Given the description of an element on the screen output the (x, y) to click on. 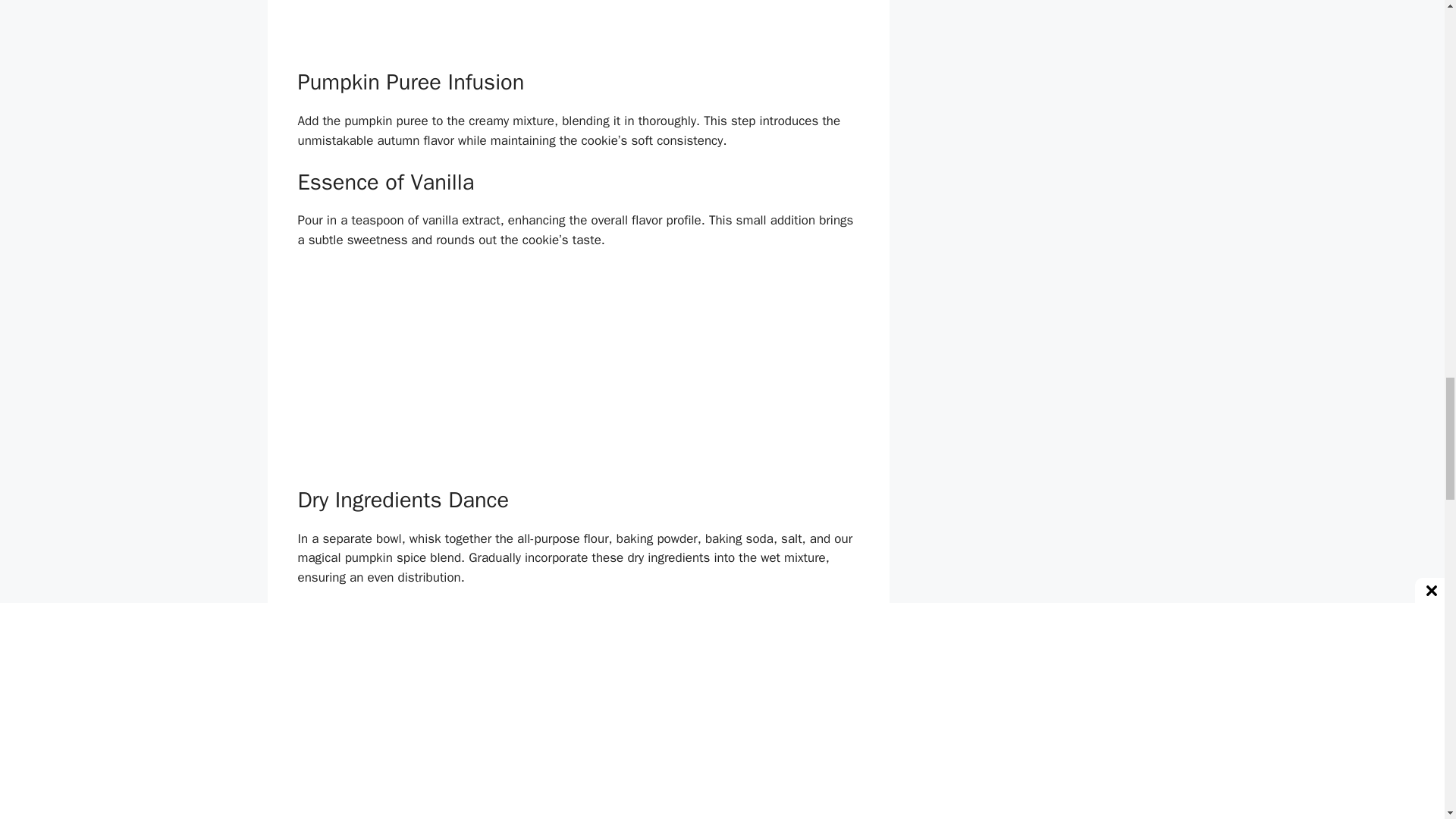
Advertisement (578, 31)
Advertisement (578, 771)
Advertisement (578, 375)
